Given the description of an element on the screen output the (x, y) to click on. 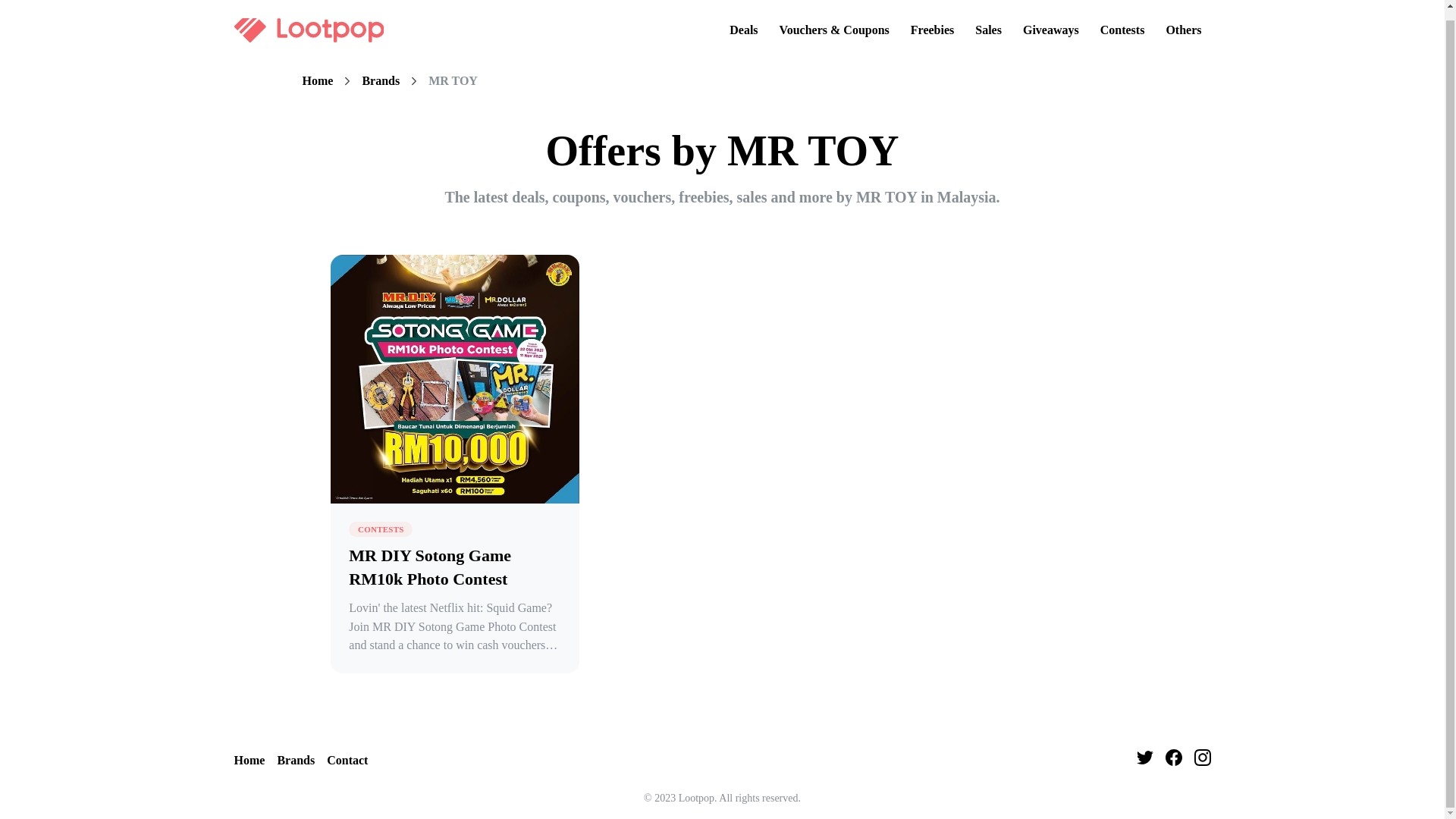
Others (1182, 21)
Brands (379, 80)
Contact (347, 760)
Home (317, 80)
Freebies (931, 21)
Contests (1122, 21)
Giveaways (1050, 21)
Sales (988, 21)
Deals (743, 21)
Home (248, 760)
